Given the description of an element on the screen output the (x, y) to click on. 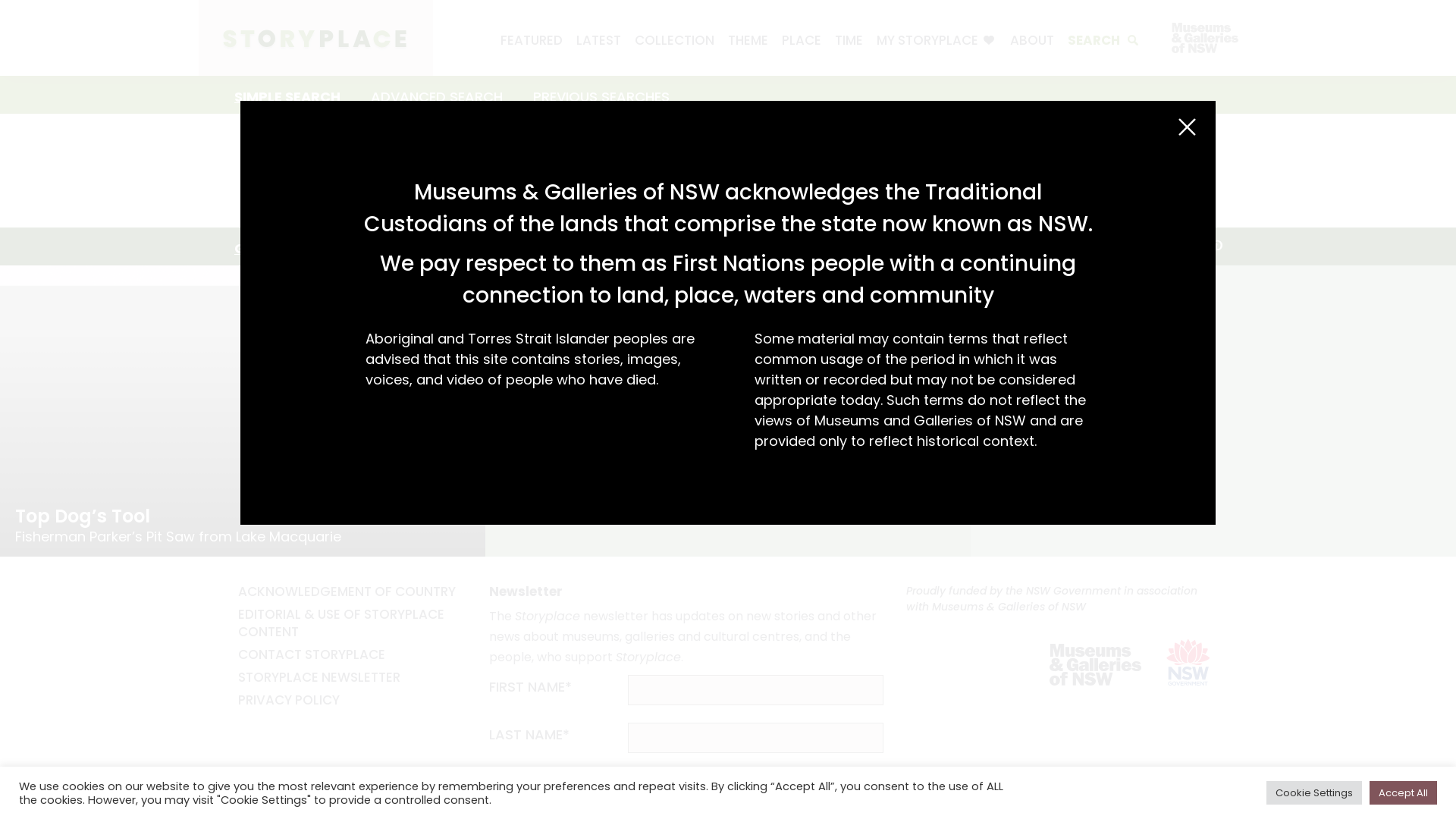
Share on Twitter Element type: hover (1186, 246)
PRIVACY POLICY Element type: text (288, 699)
Share on Facebook Element type: hover (1156, 246)
PREVIOUS SEARCHES Element type: text (600, 94)
COLLECTION Element type: text (674, 39)
SEARCH Element type: text (640, 170)
GALLERY VIEW Element type: text (283, 246)
SEARCH Element type: text (1102, 39)
PLACE Element type: text (801, 39)
FEATURED Element type: text (531, 39)
ACKNOWLEDGEMENT OF COUNTRY Element type: text (346, 591)
Accept All Element type: text (1403, 792)
Cookie Settings Element type: text (1313, 792)
Share on Pinterest Element type: hover (1216, 246)
CONTACT STORYPLACE Element type: text (311, 654)
THEME Element type: text (748, 39)
LATEST Element type: text (598, 39)
SIMPLE SEARCH Element type: text (287, 94)
Close (Esc) Element type: hover (1186, 126)
ABOUT Element type: text (1031, 39)
EDITORIAL & USE OF STORYPLACE CONTENT Element type: text (341, 622)
Copy page link Element type: hover (1125, 246)
MAP VIEW Element type: text (396, 246)
Save Story to My Storyplace Element type: hover (456, 294)
MY STORYPLACE Element type: text (936, 39)
TIME Element type: text (848, 39)
ADVANCED SEARCH Element type: text (436, 94)
STORYPLACE NEWSLETTER Element type: text (319, 677)
